Given the description of an element on the screen output the (x, y) to click on. 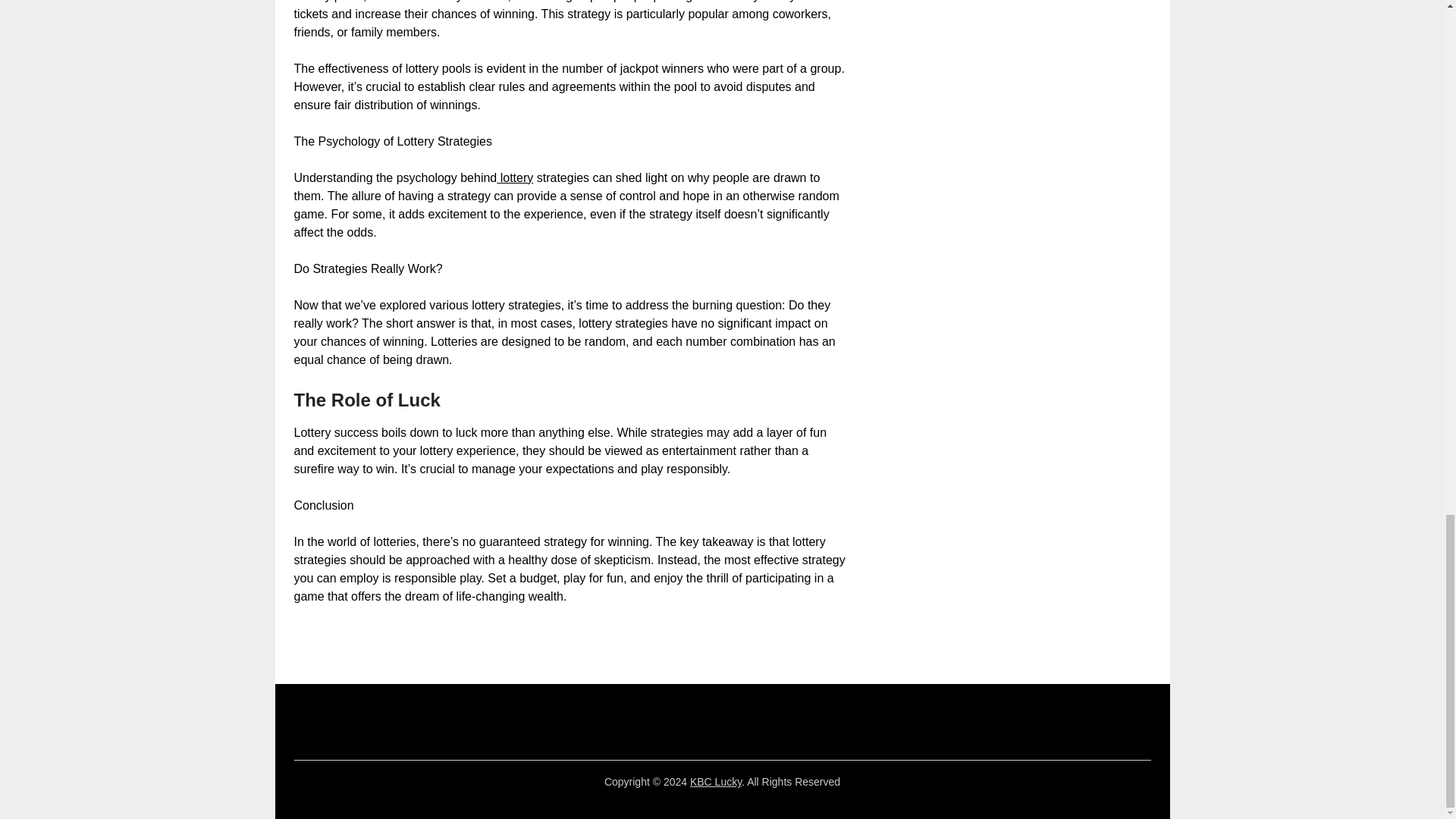
lottery (514, 177)
KBC Lucky (715, 781)
